Given the description of an element on the screen output the (x, y) to click on. 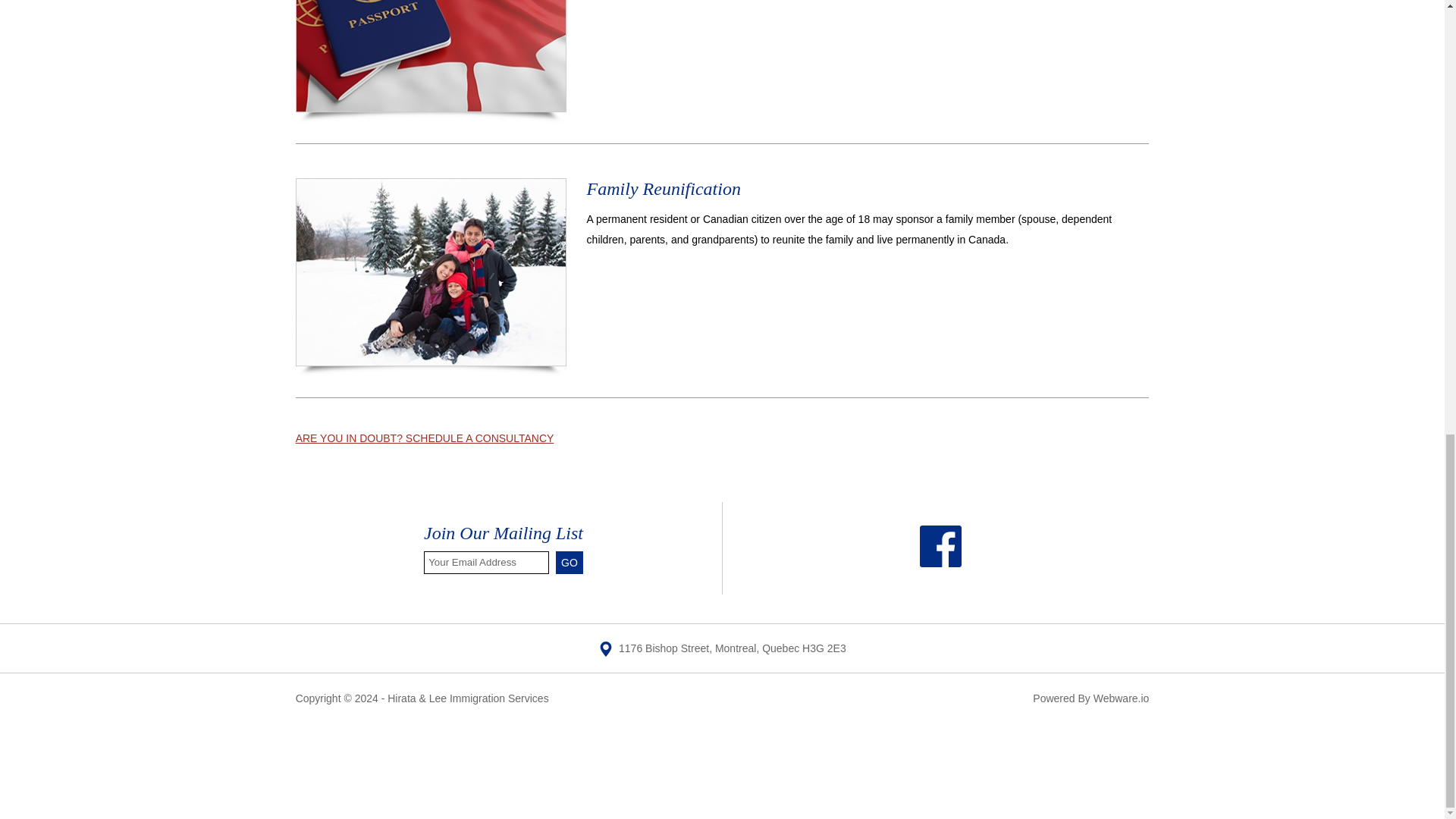
Webware.io (1121, 698)
ARE YOU IN DOUBT? SCHEDULE A CONSULTANCY (424, 438)
1176 Bishop Street, Montreal, Quebec H3G 2E3 (721, 647)
GO (569, 562)
GO (569, 562)
Your email address (485, 562)
